Given the description of an element on the screen output the (x, y) to click on. 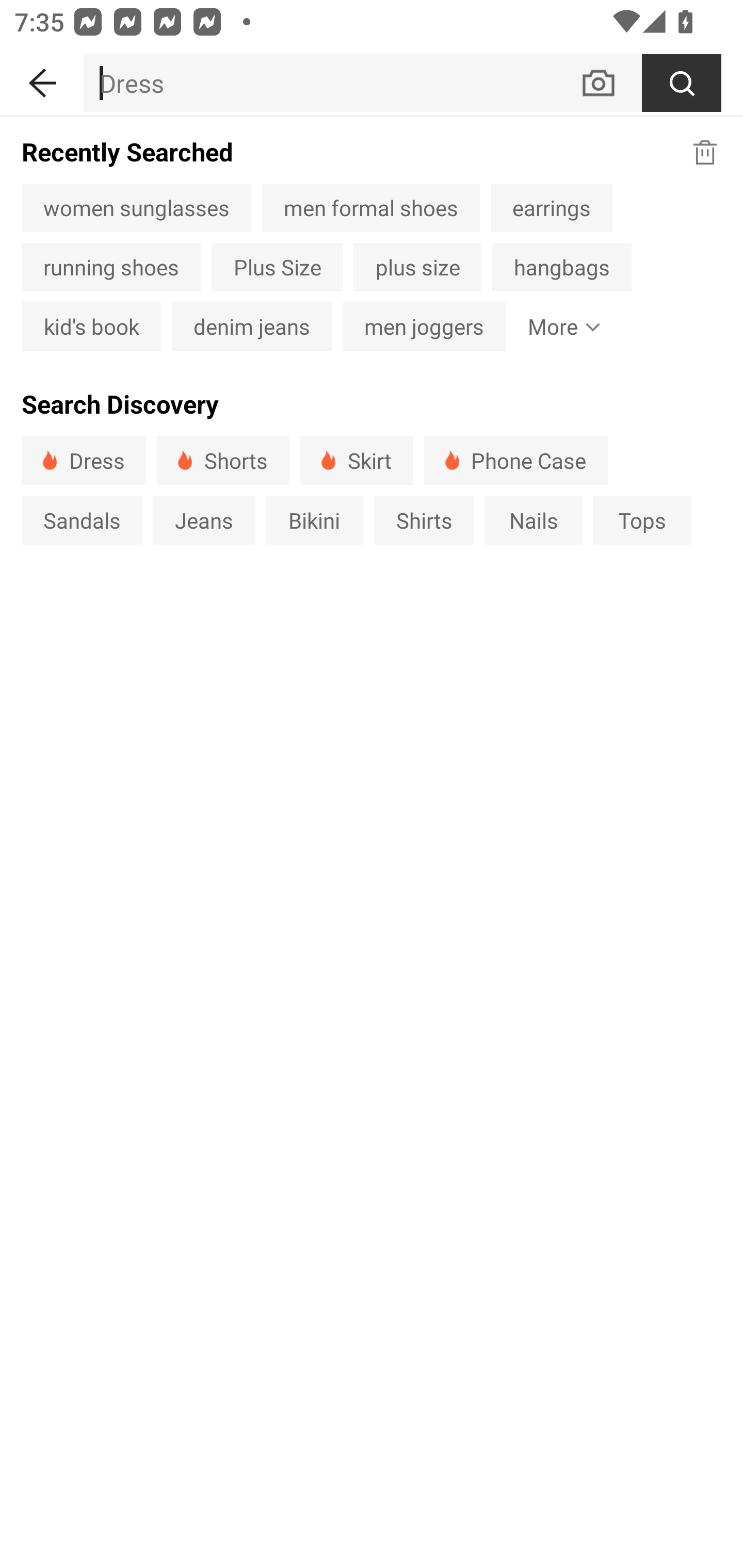
BACK (41, 79)
Dress (330, 82)
women sunglasses (136, 207)
men formal shoes (370, 207)
earrings (551, 207)
running shoes (110, 267)
Plus Size (276, 267)
plus size (417, 267)
hangbags (561, 267)
kid's book (91, 326)
denim jeans (251, 326)
men joggers (423, 326)
More Show More (559, 326)
Dress (83, 459)
Shorts (222, 459)
Skirt (356, 459)
Phone Case (515, 459)
Sandals (81, 519)
Jeans (203, 519)
Bikini (314, 519)
Shirts (423, 519)
Nails (533, 519)
Tops (641, 519)
